Given the description of an element on the screen output the (x, y) to click on. 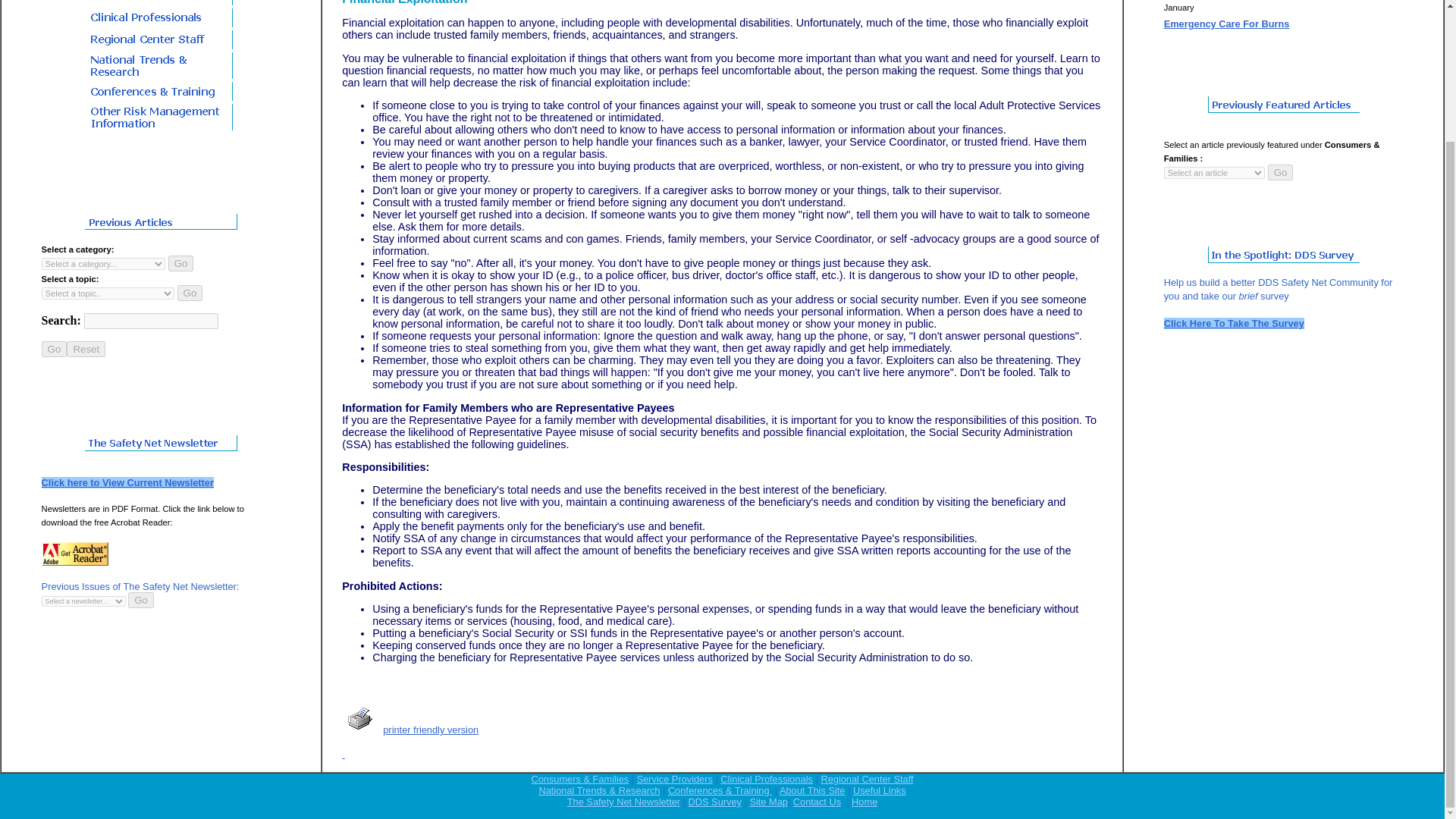
Go (180, 262)
Home (864, 801)
Regional Center Staff (866, 778)
Emergency Care For Burns (1226, 23)
printer friendly version (430, 729)
Go (54, 349)
Go (190, 293)
Contact Us (817, 801)
Go (54, 349)
Go (1281, 172)
Site Map (768, 801)
Click here to View Current Newsletter (128, 482)
The Safety Net Newsletter (623, 801)
Useful Links (879, 790)
